Given the description of an element on the screen output the (x, y) to click on. 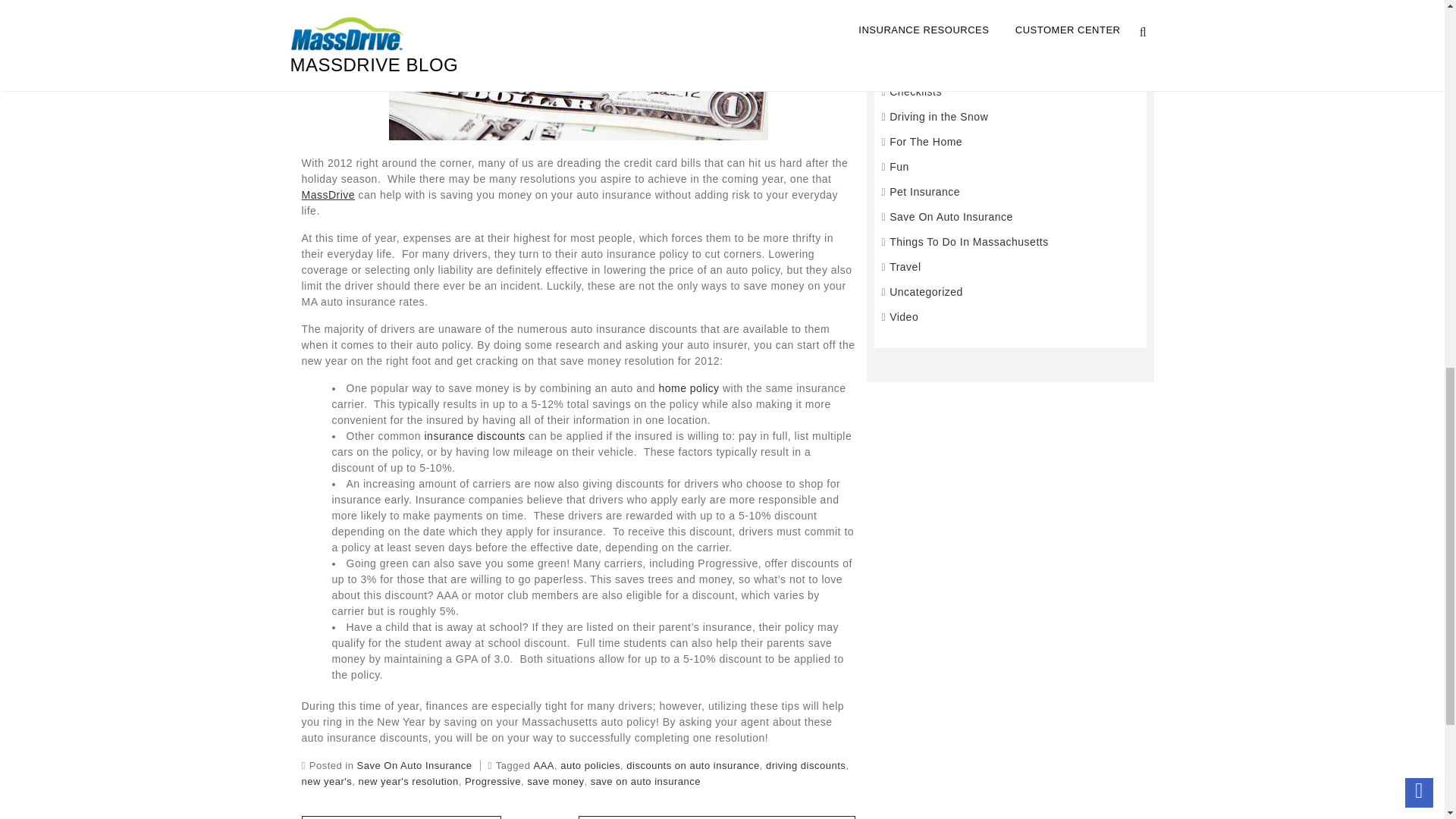
save money (555, 781)
Progressive (492, 781)
Save On Auto Insurance (413, 765)
MassDrive (328, 194)
driving discounts (805, 765)
new year's resolution (408, 781)
home policy (688, 387)
discounts on auto insurance (692, 765)
Save on Auto Insurance (577, 70)
save on auto insurance (645, 781)
